Given the description of an element on the screen output the (x, y) to click on. 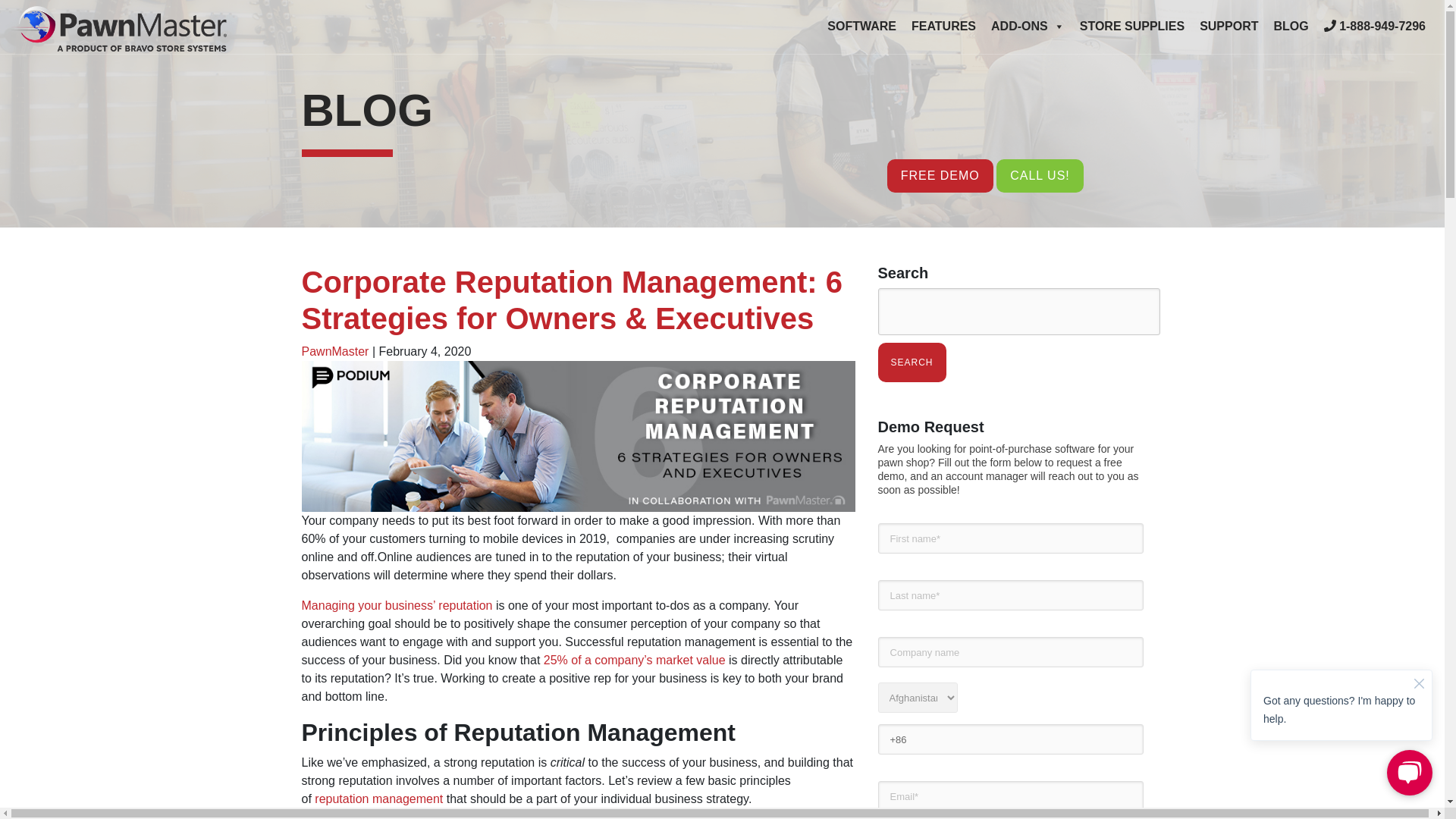
PawnMaster (119, 29)
SUPPORT (1228, 26)
PawnMaster (119, 25)
Search (911, 362)
BLOG (1290, 26)
Posts by PawnMaster (335, 350)
ADD-ONS (1027, 26)
FEATURES (944, 26)
STORE SUPPLIES (1131, 26)
SOFTWARE (861, 26)
